Given the description of an element on the screen output the (x, y) to click on. 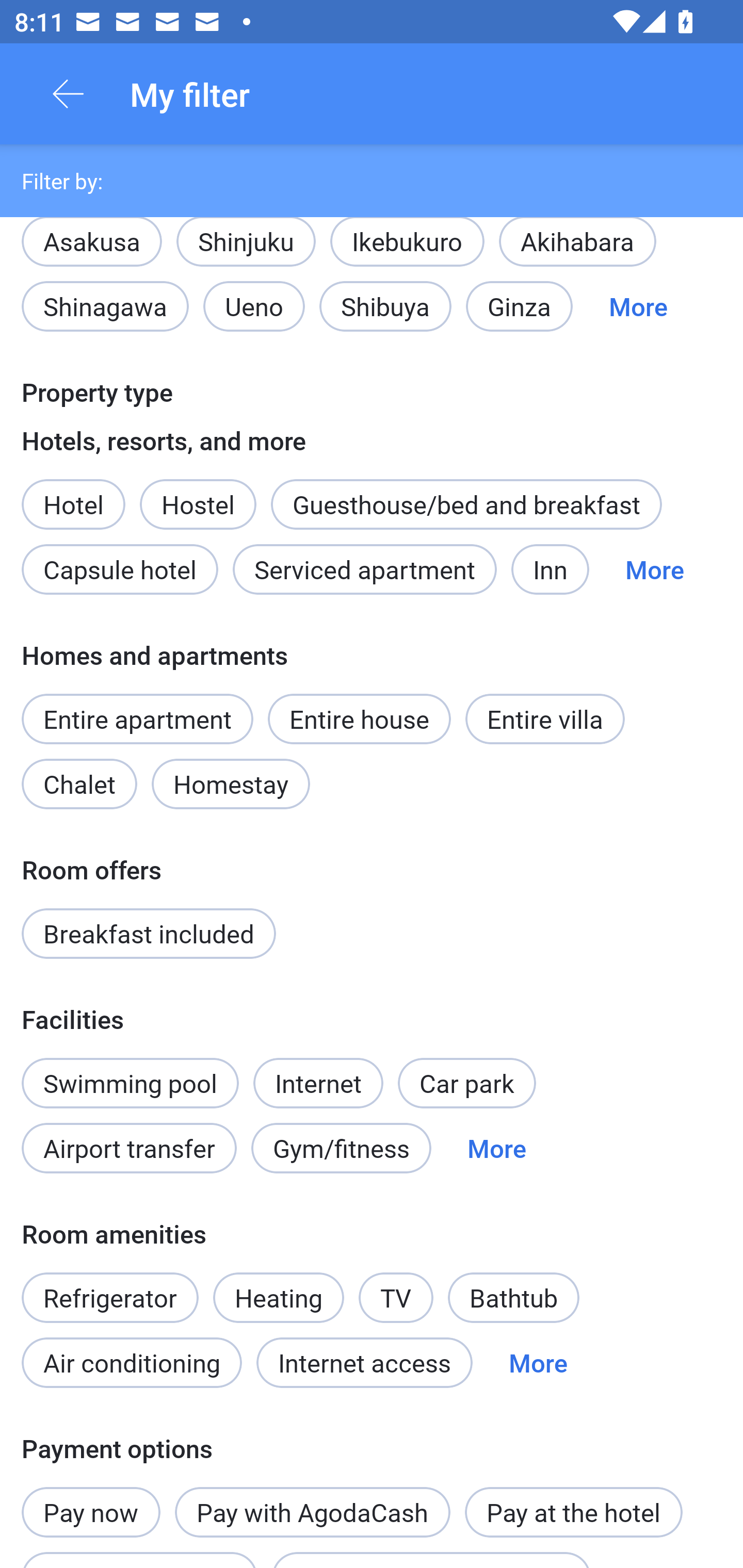
Asakusa (91, 239)
Shinjuku (245, 250)
Ikebukuro (406, 250)
Akihabara (577, 250)
Shinagawa (104, 306)
Ueno (253, 306)
Shibuya (385, 306)
Ginza (518, 306)
More (637, 306)
Hotel (73, 493)
Hostel (197, 503)
Guesthouse/bed and breakfast (466, 503)
Capsule hotel (119, 569)
Serviced apartment (364, 569)
Inn (550, 569)
More (654, 569)
Entire apartment (137, 718)
Entire house (359, 718)
Entire villa (544, 718)
Chalet (79, 783)
Homestay (230, 783)
Breakfast included (148, 933)
Swimming pool (130, 1082)
Internet (318, 1072)
Car park (466, 1082)
Airport transfer (129, 1148)
Gym/fitness (341, 1148)
More (496, 1148)
Refrigerator (109, 1286)
Heating (278, 1297)
TV (395, 1286)
Bathtub (513, 1297)
Air conditioning (131, 1362)
Internet access (364, 1362)
More (538, 1362)
Pay now (90, 1501)
Pay with AgodaCash (312, 1512)
Pay at the hotel (573, 1512)
